Given the description of an element on the screen output the (x, y) to click on. 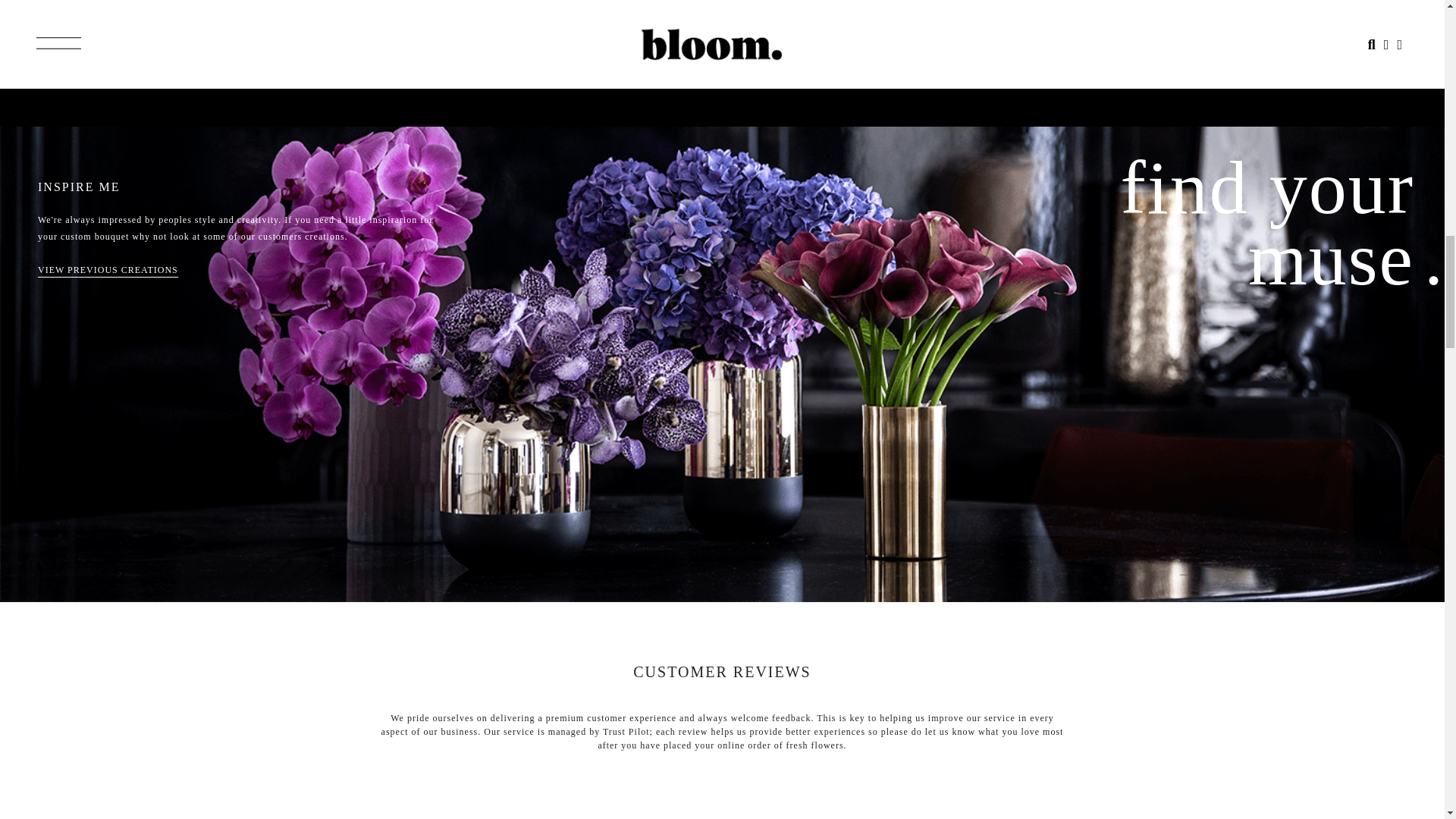
VIEW PREVIOUS CREATIONS (107, 270)
